Given the description of an element on the screen output the (x, y) to click on. 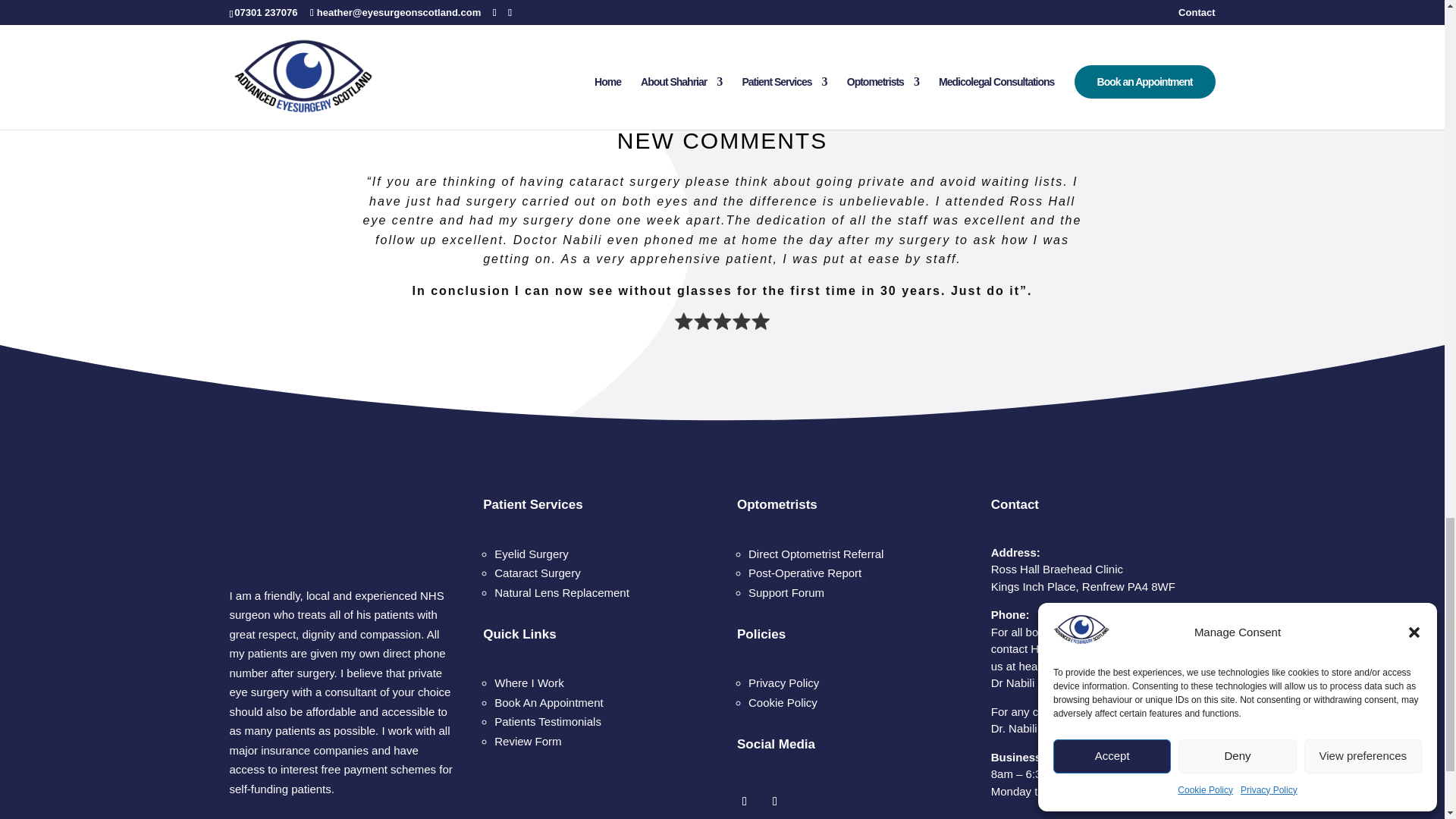
Eyelid Surgery (532, 553)
Natural Lens Replacement (561, 592)
Support Forum (786, 592)
Post-Operative Report (804, 572)
Privacy Policy (783, 682)
Patients Testimonials (548, 721)
Book An Appointment (548, 702)
Where I Work (529, 682)
Complete our Review Form (527, 740)
Cataract Surgery (537, 572)
